Given the description of an element on the screen output the (x, y) to click on. 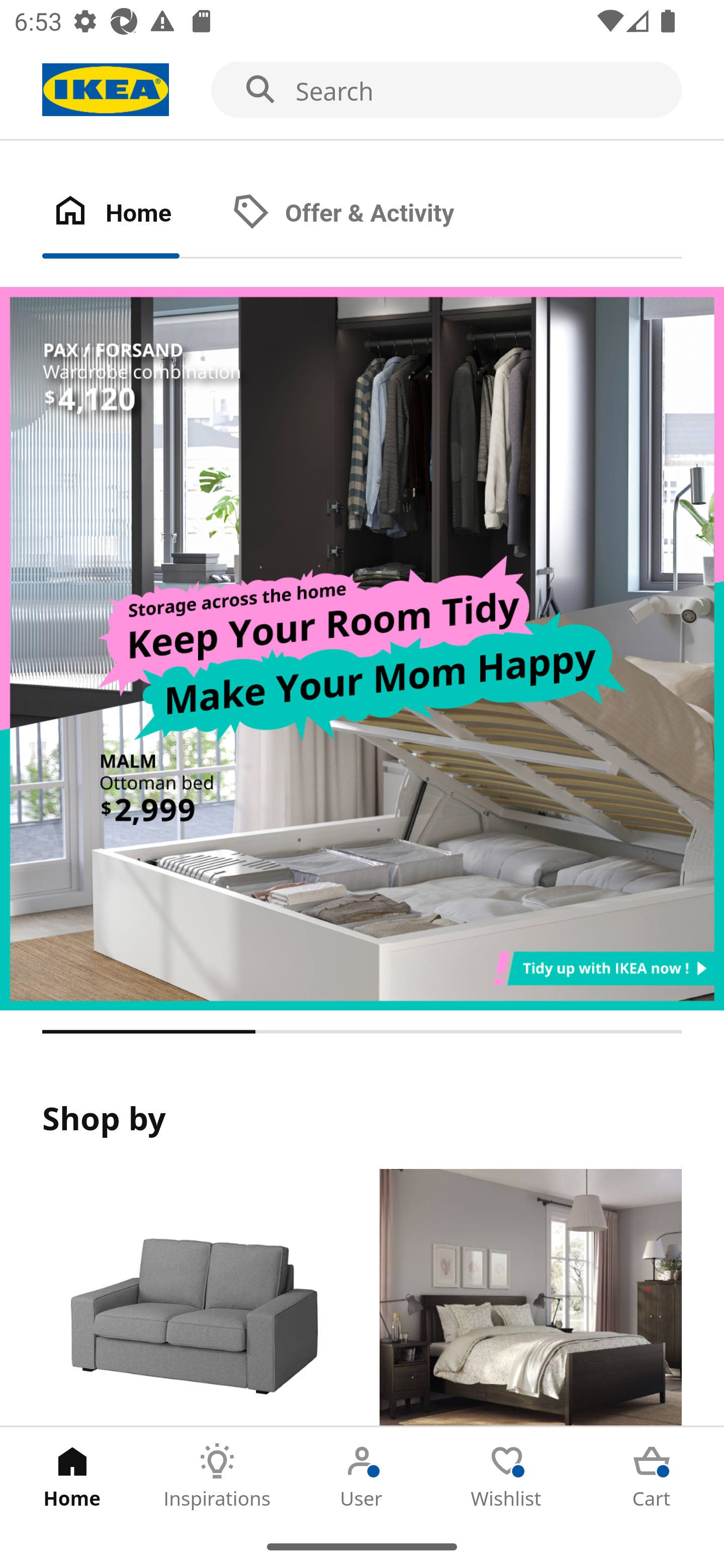
Search (361, 90)
Home
Tab 1 of 2 (131, 213)
Offer & Activity
Tab 2 of 2 (363, 213)
Products (192, 1297)
Rooms (530, 1297)
Home
Tab 1 of 5 (72, 1476)
Inspirations
Tab 2 of 5 (216, 1476)
User
Tab 3 of 5 (361, 1476)
Wishlist
Tab 4 of 5 (506, 1476)
Cart
Tab 5 of 5 (651, 1476)
